Given the description of an element on the screen output the (x, y) to click on. 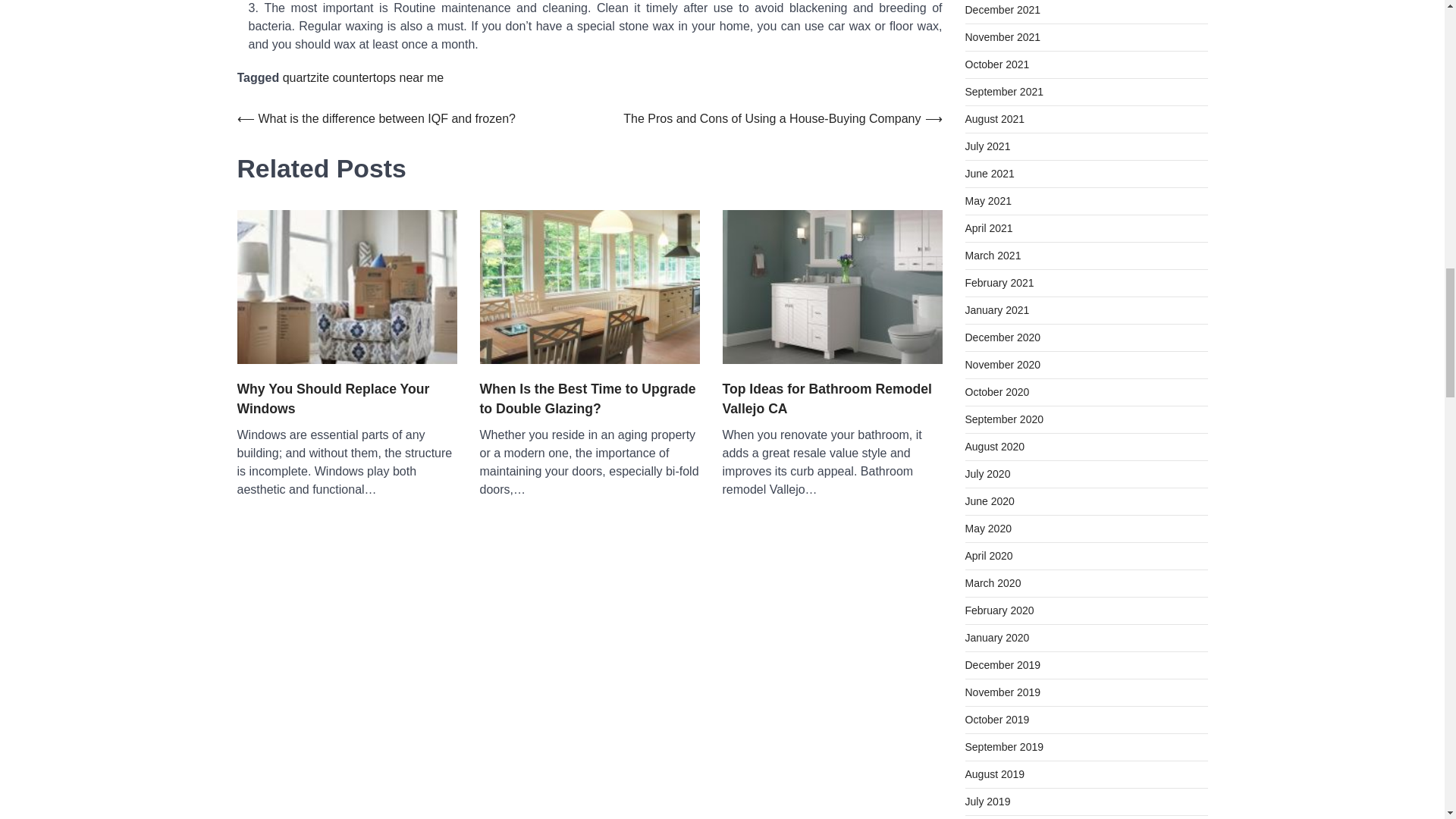
Top Ideas for Bathroom Remodel Vallejo CA (832, 399)
Why You Should Replace Your Windows (346, 399)
quartzite countertops near me (363, 77)
When Is the Best Time to Upgrade to Double Glazing? (588, 399)
